Given the description of an element on the screen output the (x, y) to click on. 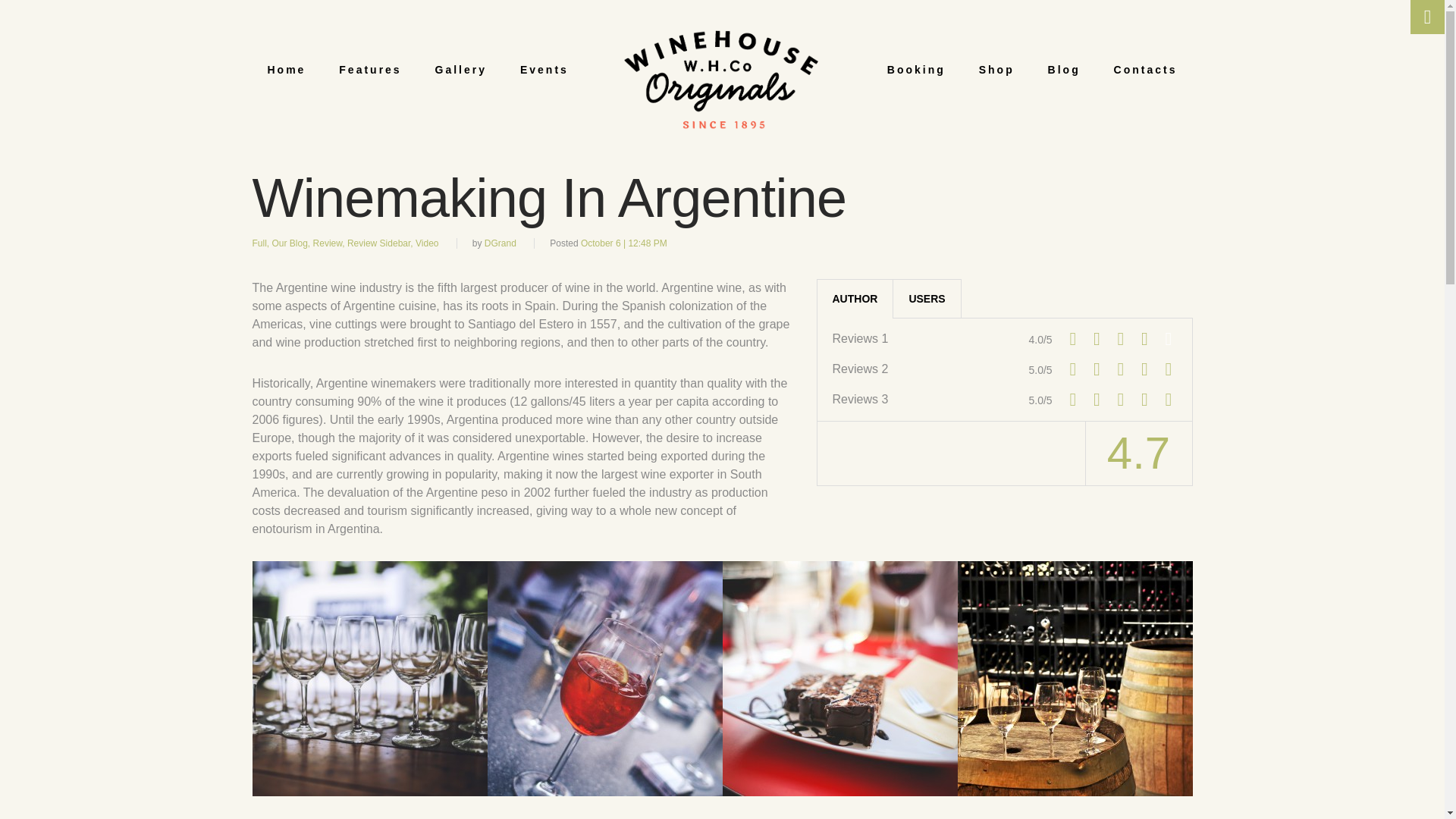
Gallery (461, 69)
Home (285, 69)
Events (544, 69)
Features (369, 69)
Booking (916, 69)
